Given the description of an element on the screen output the (x, y) to click on. 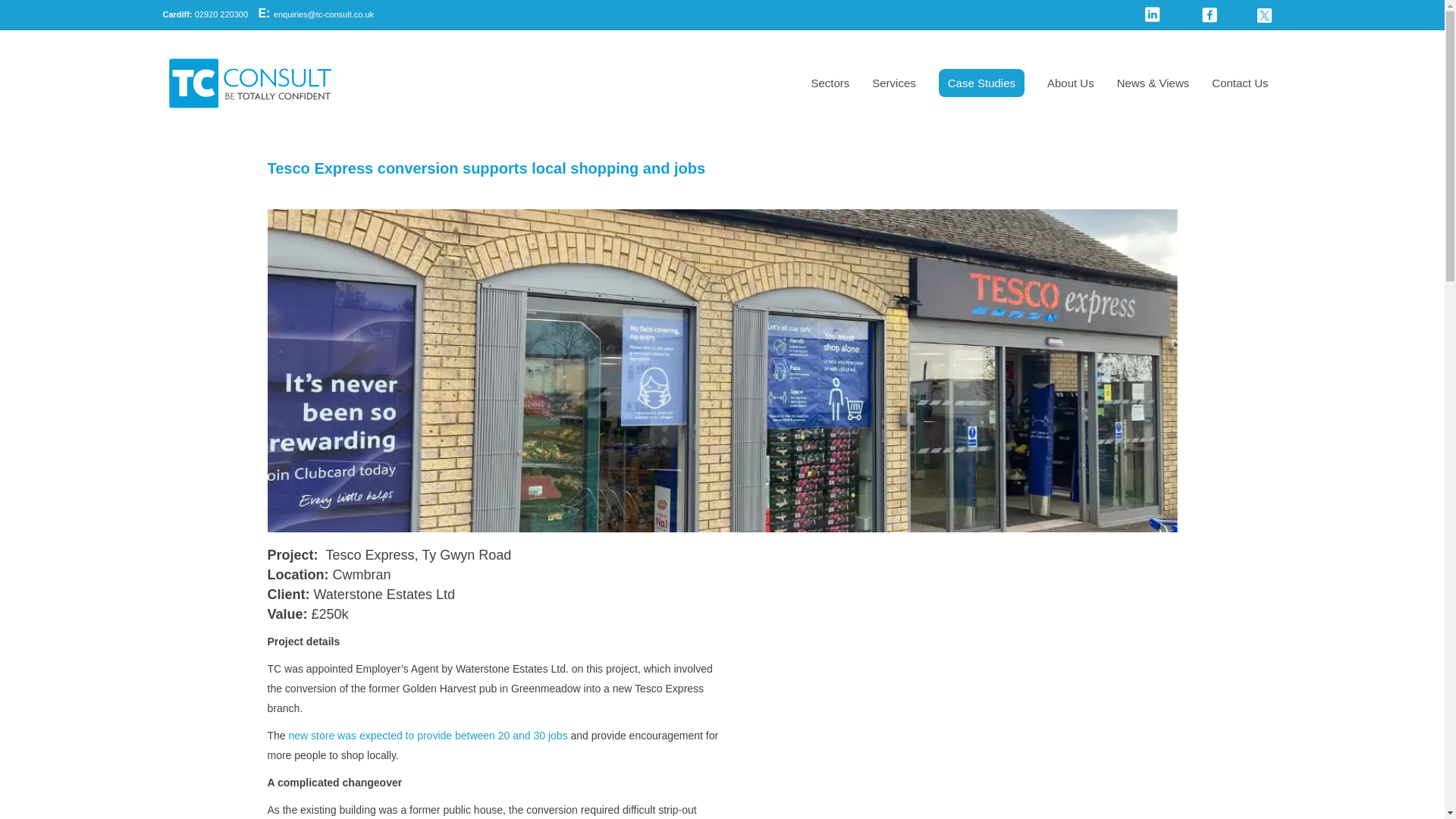
Contact Us (1239, 82)
Case Studies (982, 82)
About Us (1070, 82)
Services (893, 82)
Cardiff: 02920 220300 (204, 14)
Sectors (829, 82)
